Given the description of an element on the screen output the (x, y) to click on. 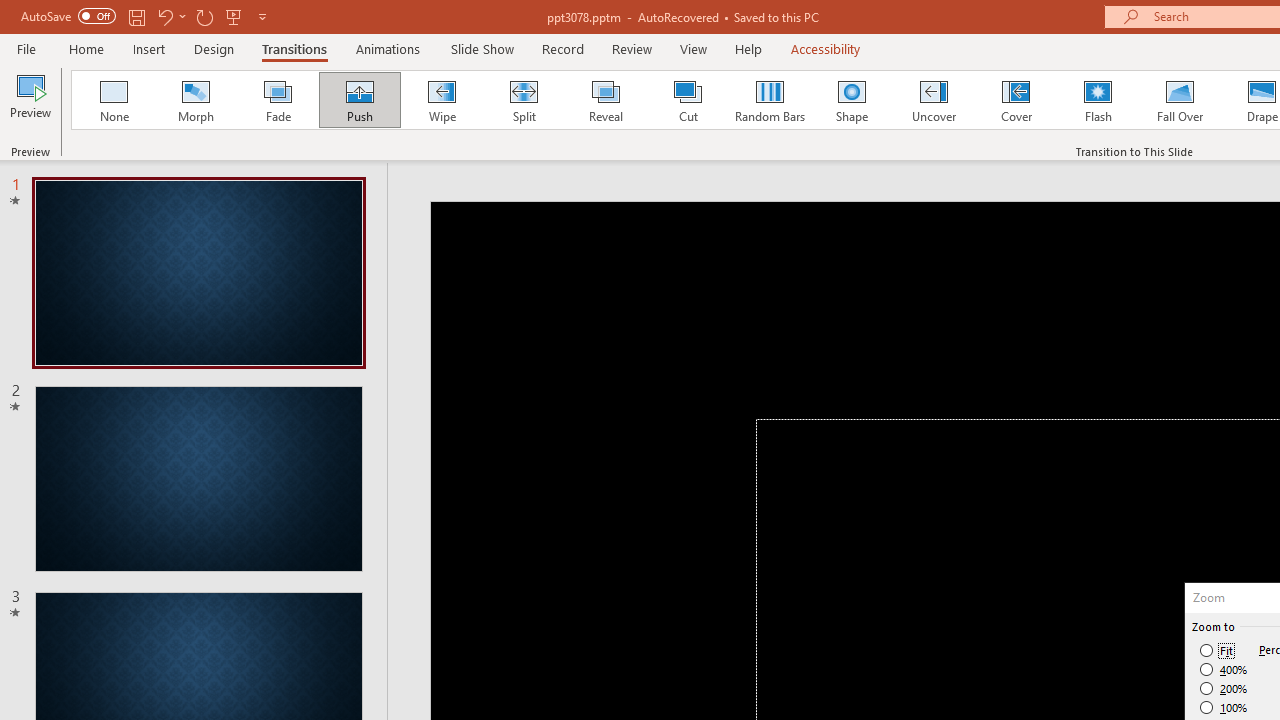
Flash (1098, 100)
Random Bars (770, 100)
